Given the description of an element on the screen output the (x, y) to click on. 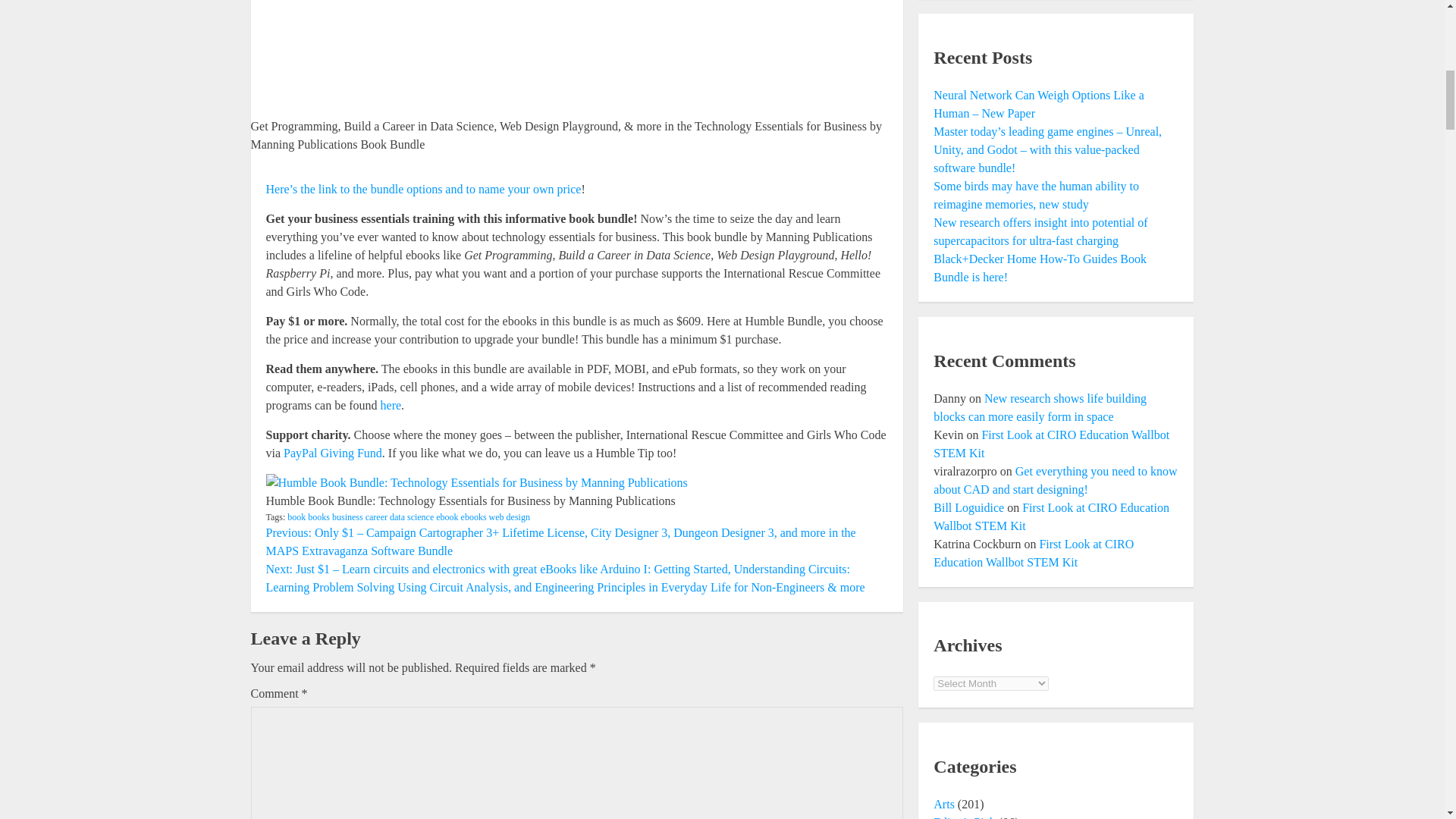
here (390, 404)
PayPal Giving Fund (332, 452)
